Given the description of an element on the screen output the (x, y) to click on. 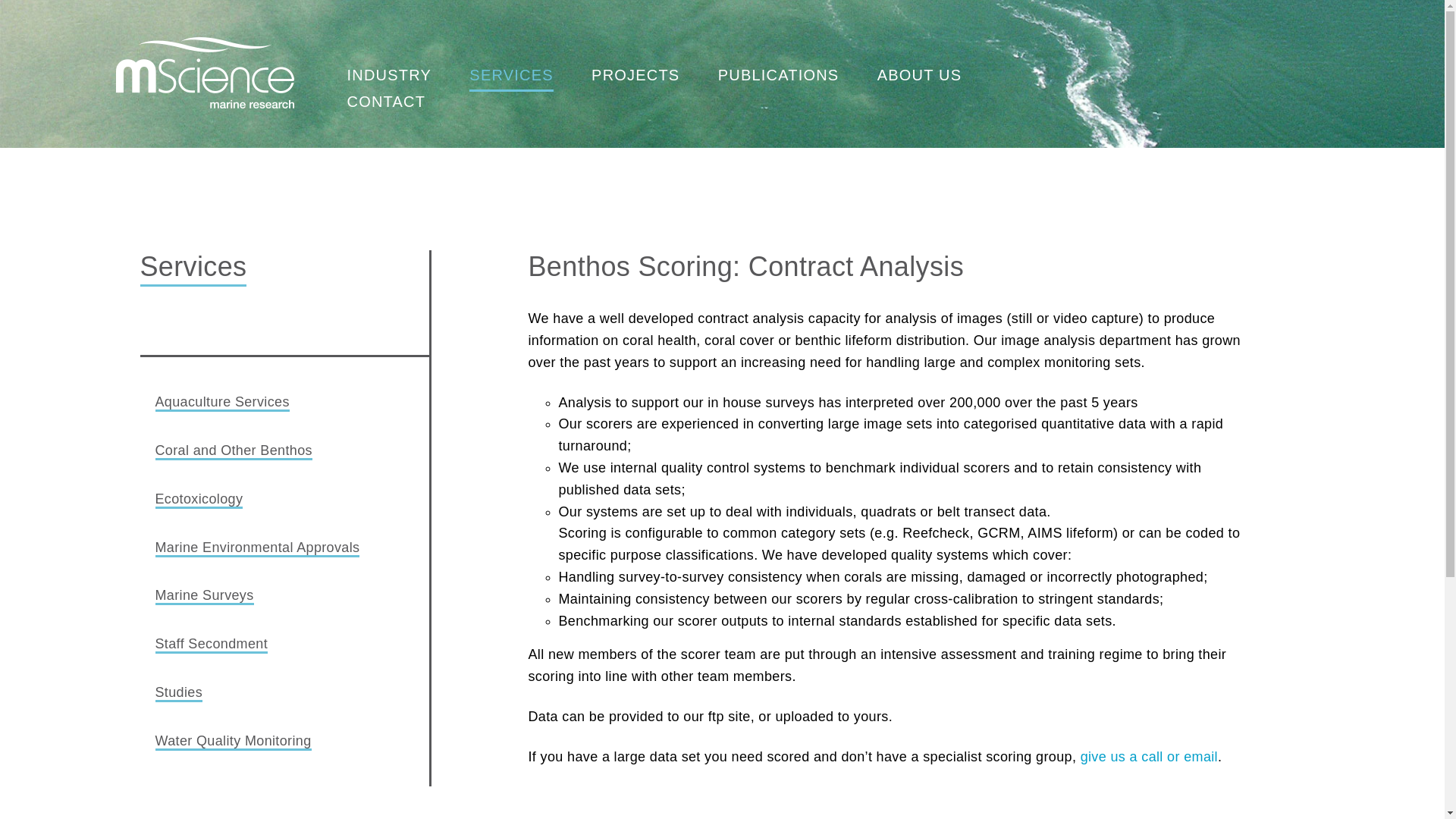
ABOUT US (918, 79)
Studies (178, 692)
Marine Environmental Approvals (256, 548)
PUBLICATIONS (778, 79)
PROJECTS (635, 79)
Coral and Other Benthos (232, 451)
MScience (204, 72)
Marine Surveys (203, 596)
SERVICES (510, 79)
CONTACT (386, 105)
